Given the description of an element on the screen output the (x, y) to click on. 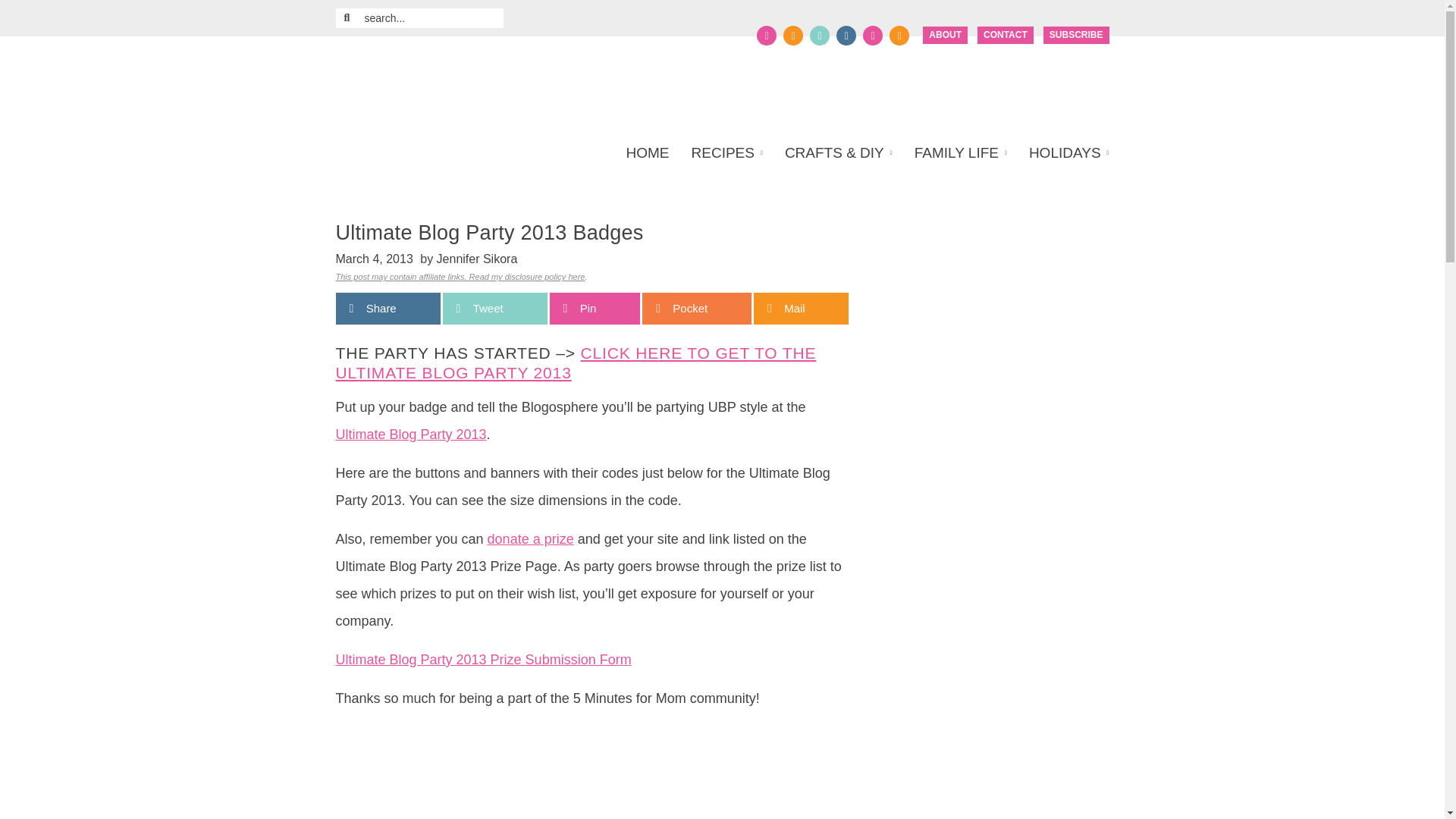
Ultimate Blog Party 2013 (574, 361)
Follow 5 Minutes For Mom on Twitter (793, 35)
RECIPES (726, 153)
Follow 5 Minutes For Mom on Facebook (766, 35)
ABOUT (945, 35)
Follow 5 Minutes For Mom on Pinterest (819, 35)
HOME (652, 153)
Follow 5 Minutes For Mom on YouTube (872, 35)
5 Minutes for Mom (480, 82)
